Given the description of an element on the screen output the (x, y) to click on. 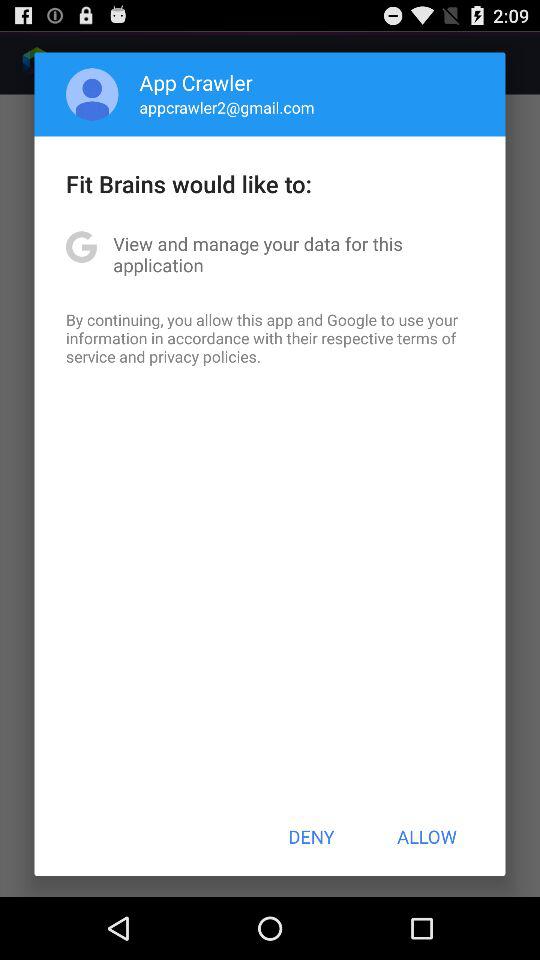
launch the app above appcrawler2@gmail.com icon (195, 82)
